Given the description of an element on the screen output the (x, y) to click on. 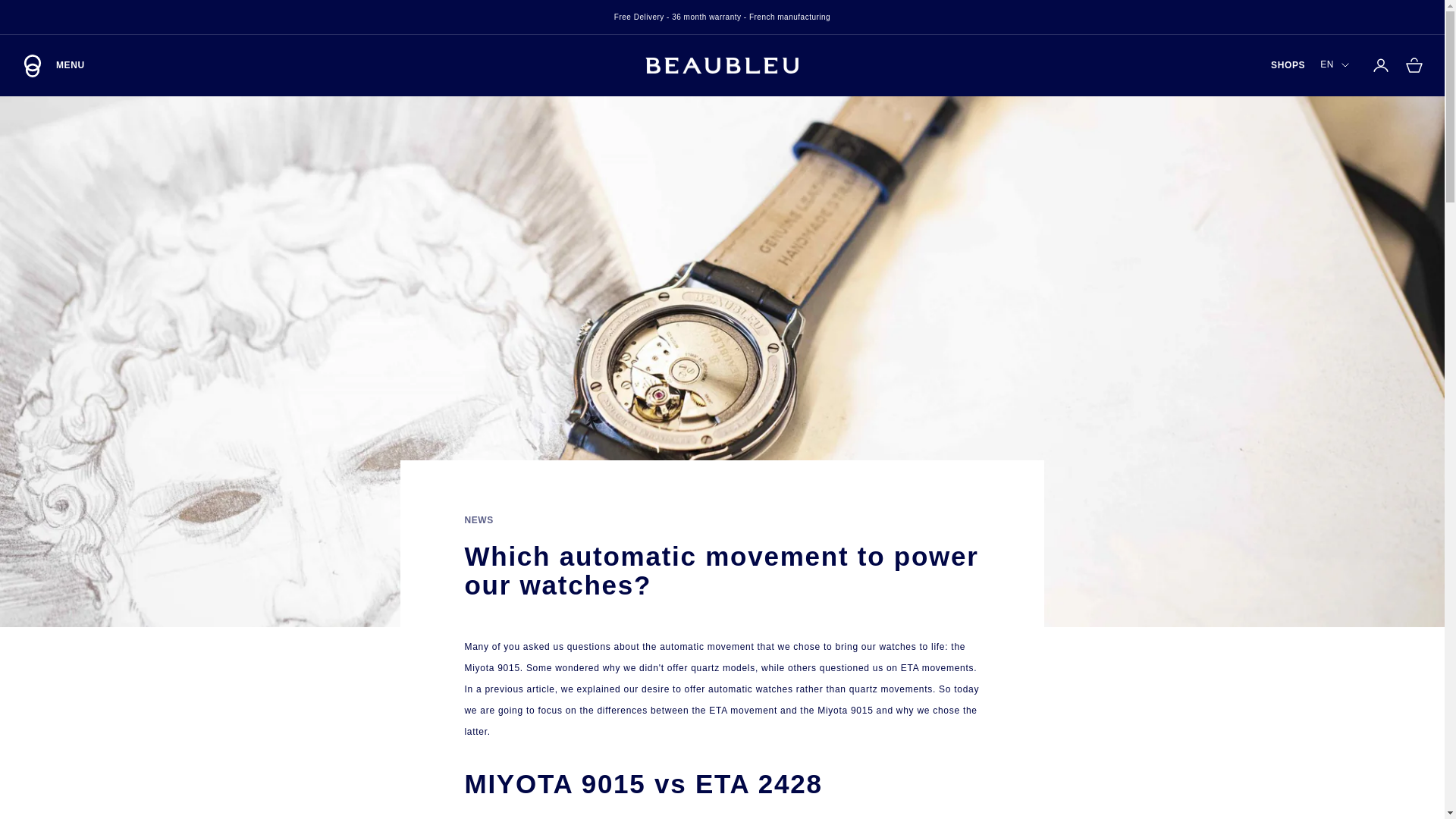
SHOPS (52, 65)
Open account page (1287, 64)
Open cart (1380, 65)
Beaubleu (1414, 65)
EN (722, 64)
